Given the description of an element on the screen output the (x, y) to click on. 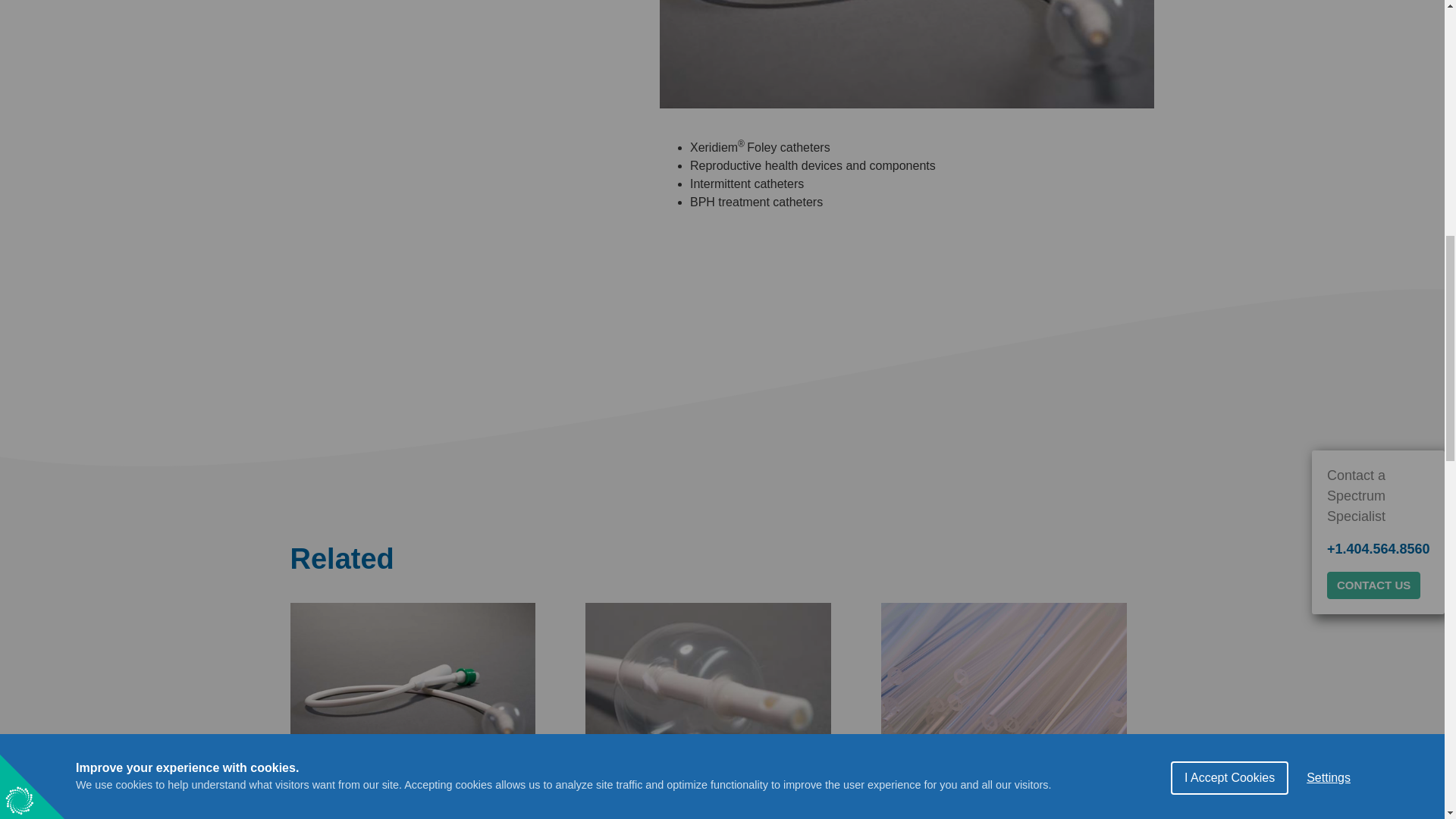
Settings (1328, 8)
I Accept Cookies (1229, 17)
